Given the description of an element on the screen output the (x, y) to click on. 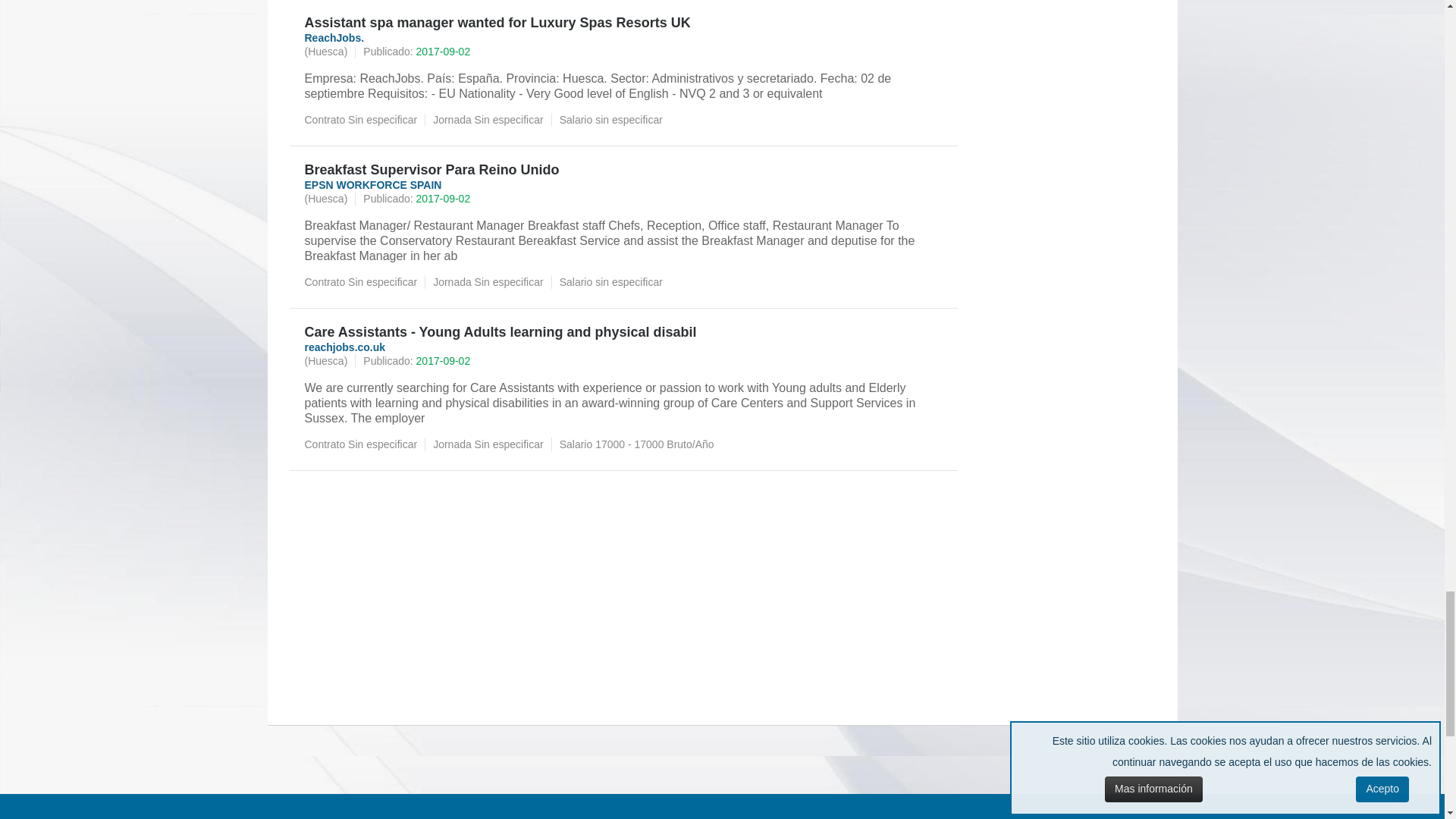
Care Assistants - Young Adults learning and physical disabil (623, 331)
Assistant spa manager wanted for Luxury Spas Resorts UK (623, 22)
Assistant spa manager wanted for Luxury Spas Resorts UK (623, 22)
Breakfast Supervisor Para Reino Unido (623, 169)
Care Assistants - Young Adults learning and physical disabil (623, 331)
Breakfast Supervisor  Para Reino Unido (623, 169)
